Given the description of an element on the screen output the (x, y) to click on. 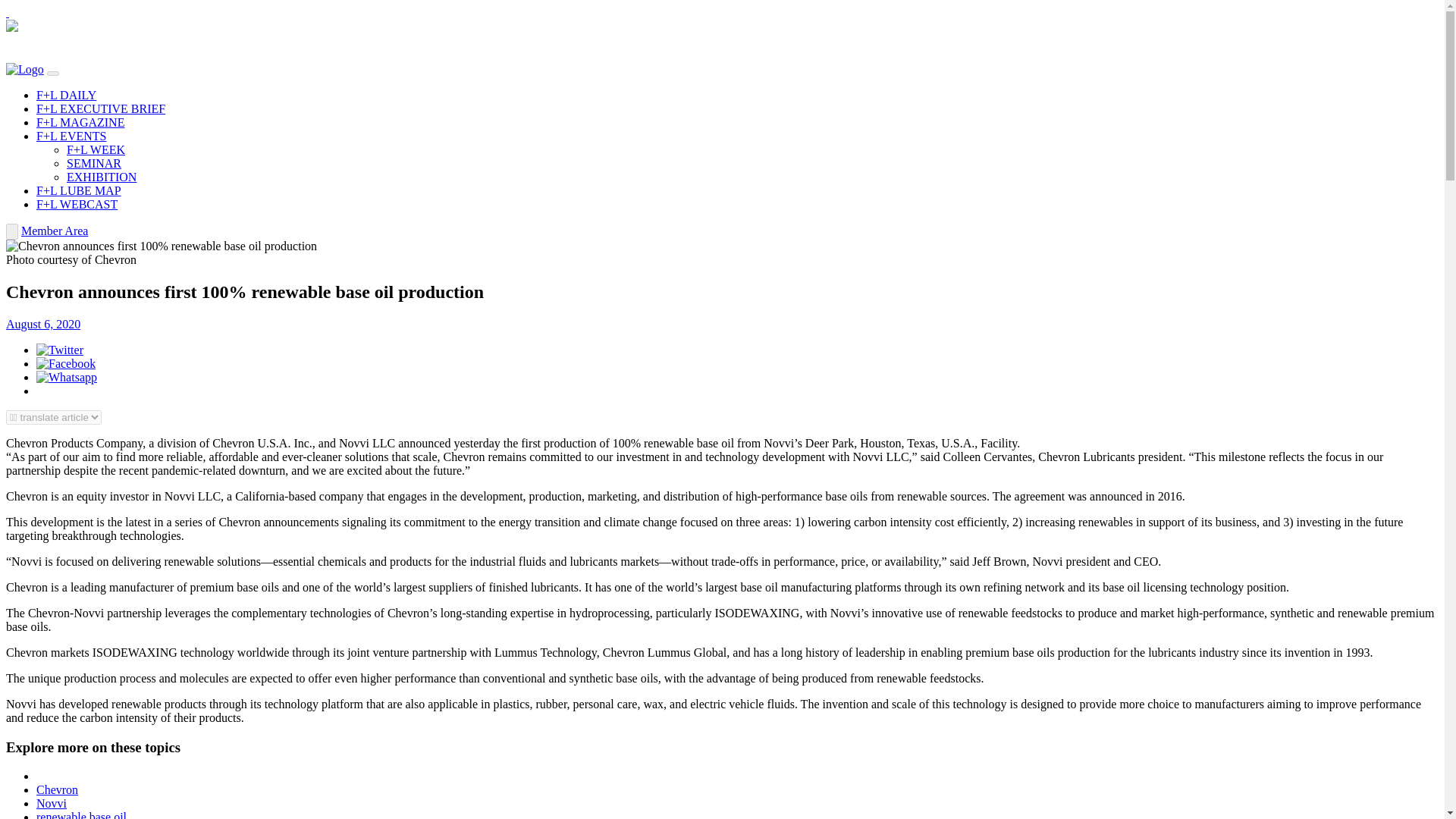
Chevron (57, 789)
Novvi (51, 802)
SEMINAR (93, 163)
August 6, 2020 (42, 323)
Member Area (54, 230)
renewable base oil (81, 814)
EXHIBITION (101, 176)
